Given the description of an element on the screen output the (x, y) to click on. 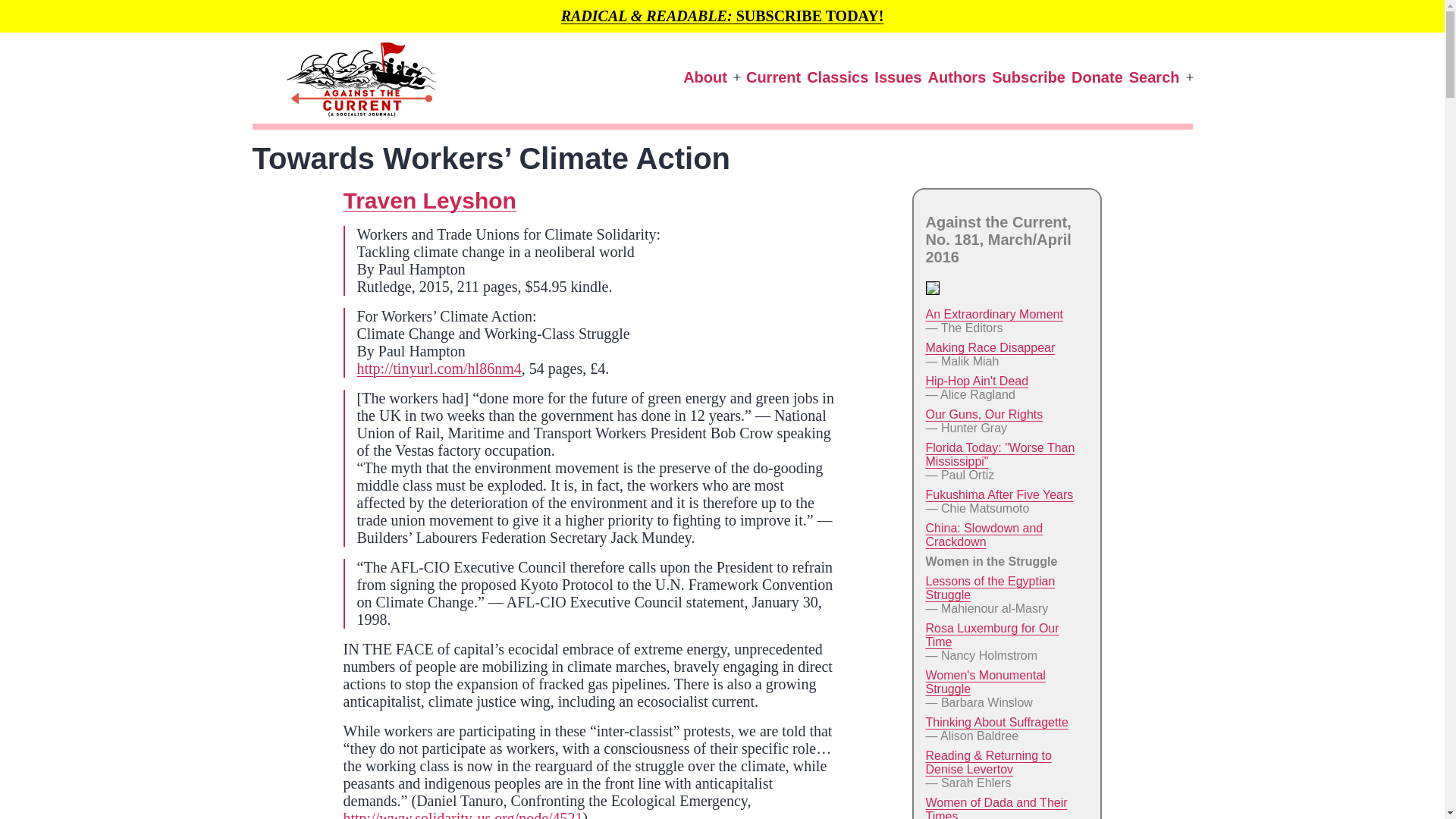
Thinking About Suffragette (995, 721)
China: Slowdown and Crackdown (983, 534)
Rosa Luxemburg for Our Time (991, 634)
Women of Dada and Their Times (995, 807)
Florida Today: "Worse Than Mississippi" (999, 454)
Current (772, 78)
Issues (897, 78)
Authors (957, 78)
Search (1153, 78)
Against the Current (274, 148)
Fukushima After Five Years (998, 494)
Classics (836, 78)
Making Race Disappear (989, 347)
Subscribe (1028, 78)
Lessons of the Egyptian Struggle (989, 587)
